Given the description of an element on the screen output the (x, y) to click on. 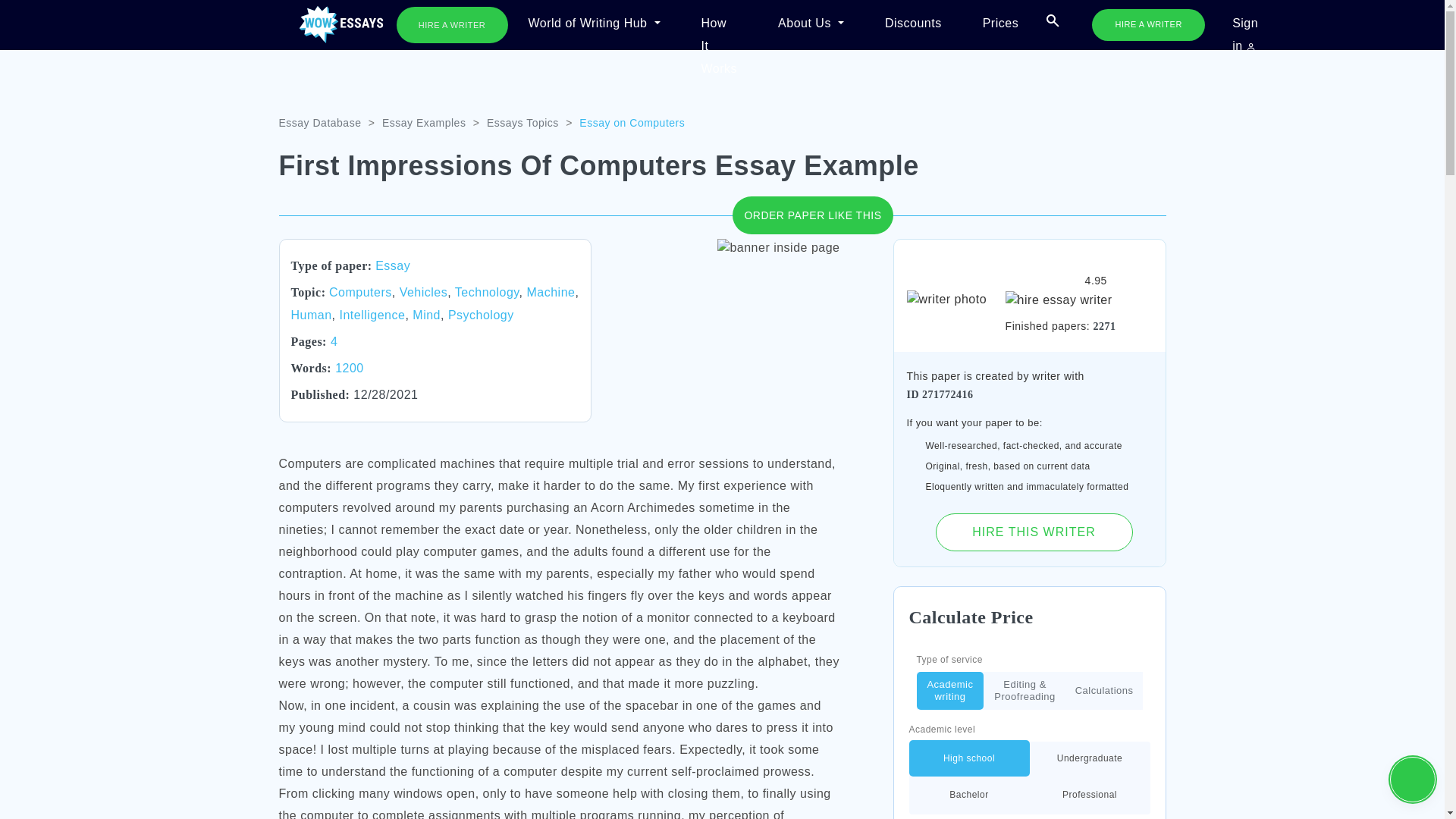
Technology (486, 291)
World of Writing Hub (592, 24)
2 (996, 690)
Essay Examples (423, 122)
HIRE A WRITER (451, 24)
Essay on Computers (631, 122)
Essays Topics (522, 122)
HIRE A WRITER (1148, 24)
Essay Examples (423, 122)
Essay Database (320, 122)
Essay (392, 265)
Essay Database (320, 122)
Prices (1000, 24)
Discounts (912, 24)
Computers (360, 291)
